Given the description of an element on the screen output the (x, y) to click on. 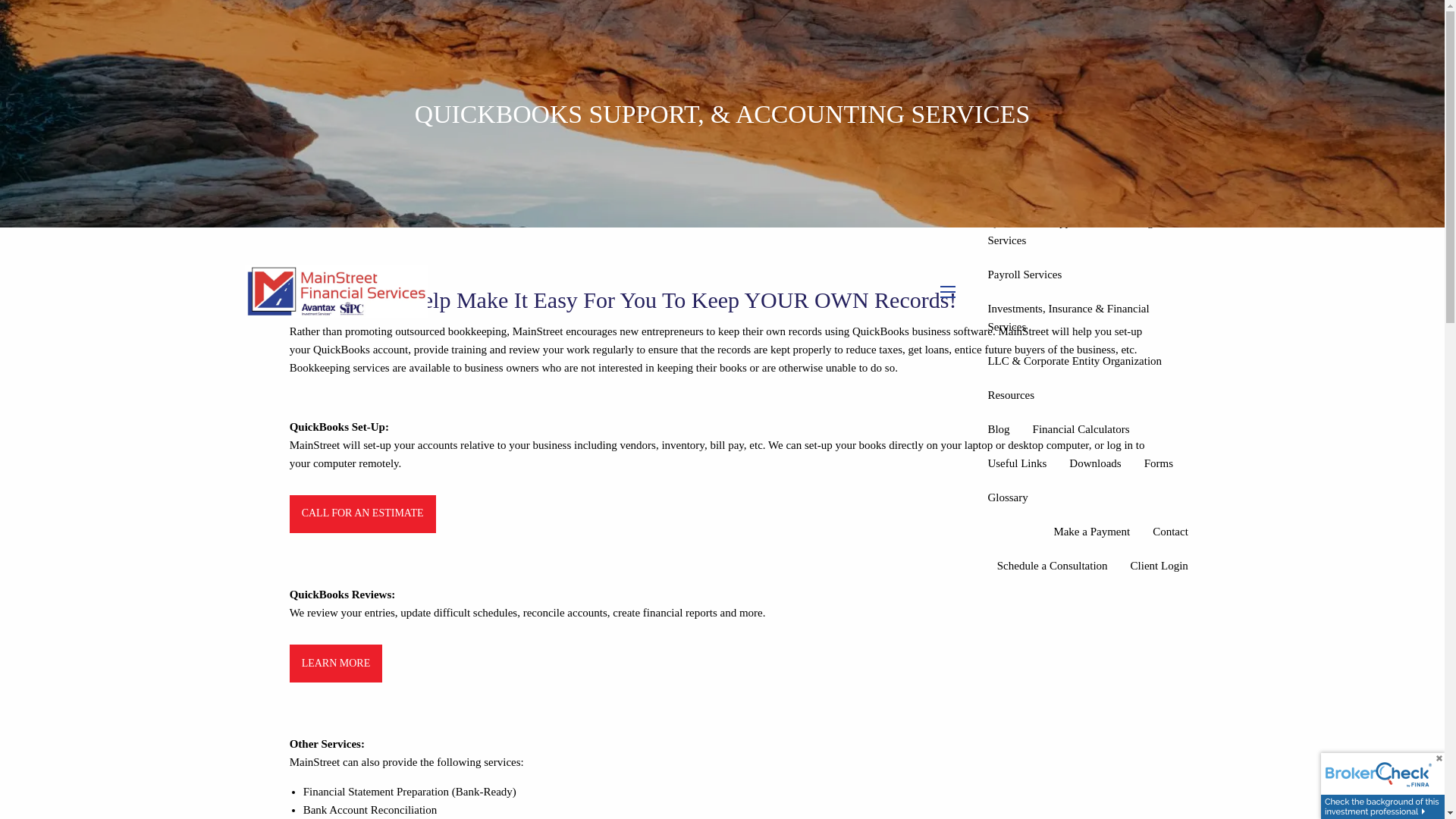
Who is Avantax? (1025, 119)
Payroll Services (1024, 274)
Home (1173, 17)
call for an estimate (362, 513)
Contact (1170, 530)
Our History (1013, 84)
About Us (1086, 50)
QuickBooks Review (335, 663)
About Us (1086, 50)
Payroll Services (1024, 274)
